Given the description of an element on the screen output the (x, y) to click on. 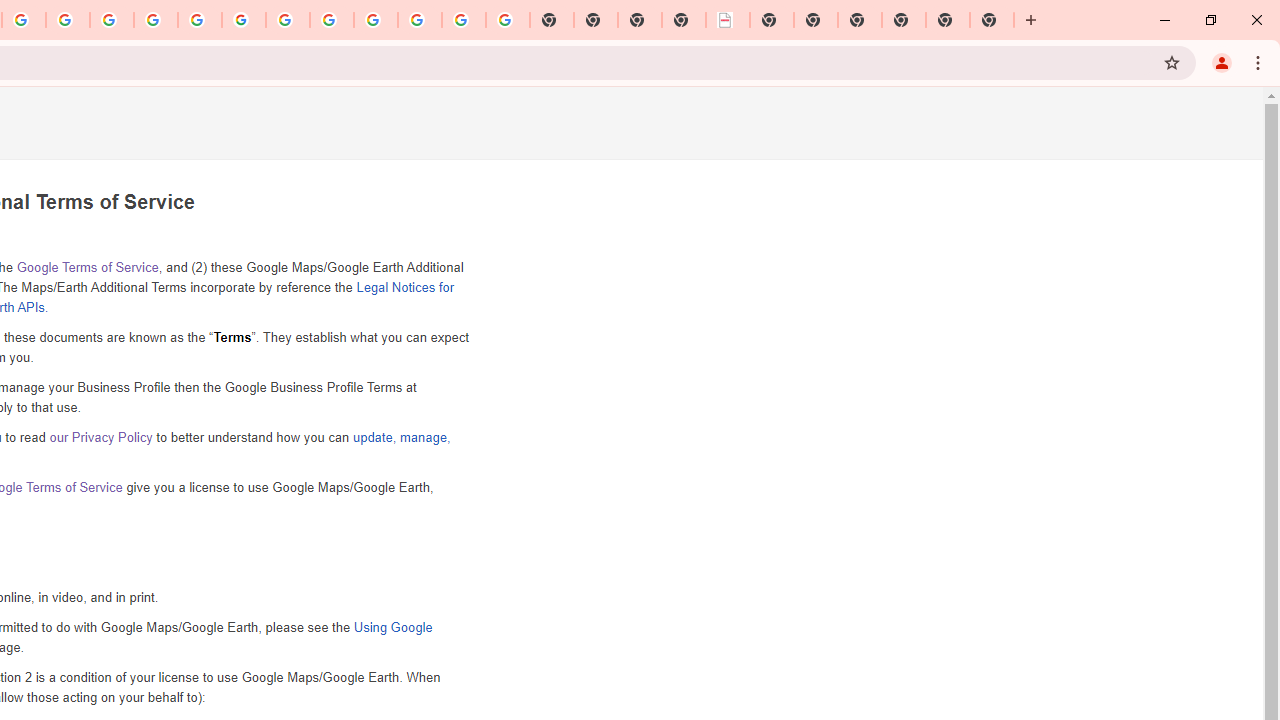
Privacy Help Center - Policies Help (155, 20)
Browse Chrome as a guest - Computer - Google Chrome Help (331, 20)
LAAD Defence & Security 2025 | BAE Systems (728, 20)
our Privacy Policy (100, 437)
New Tab (991, 20)
